Given the description of an element on the screen output the (x, y) to click on. 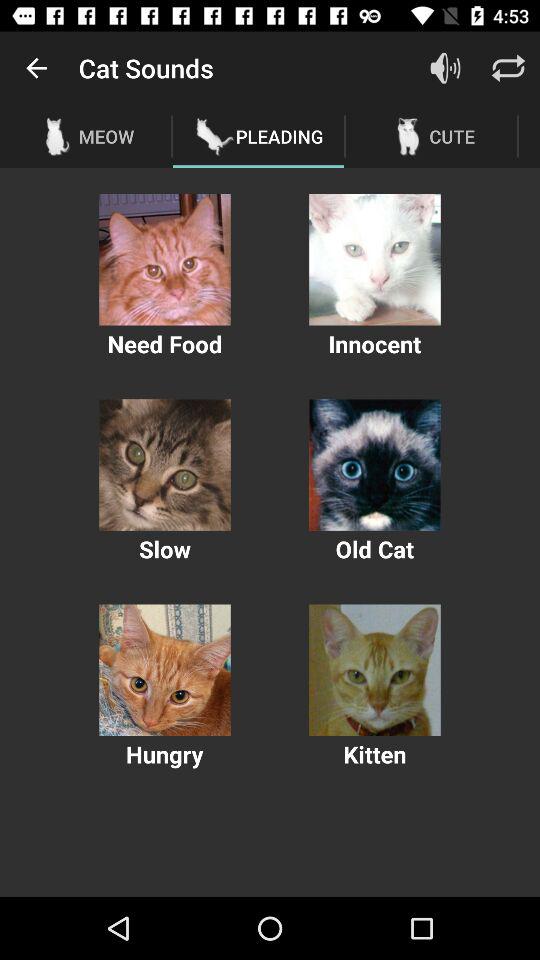
open specific session (164, 669)
